Given the description of an element on the screen output the (x, y) to click on. 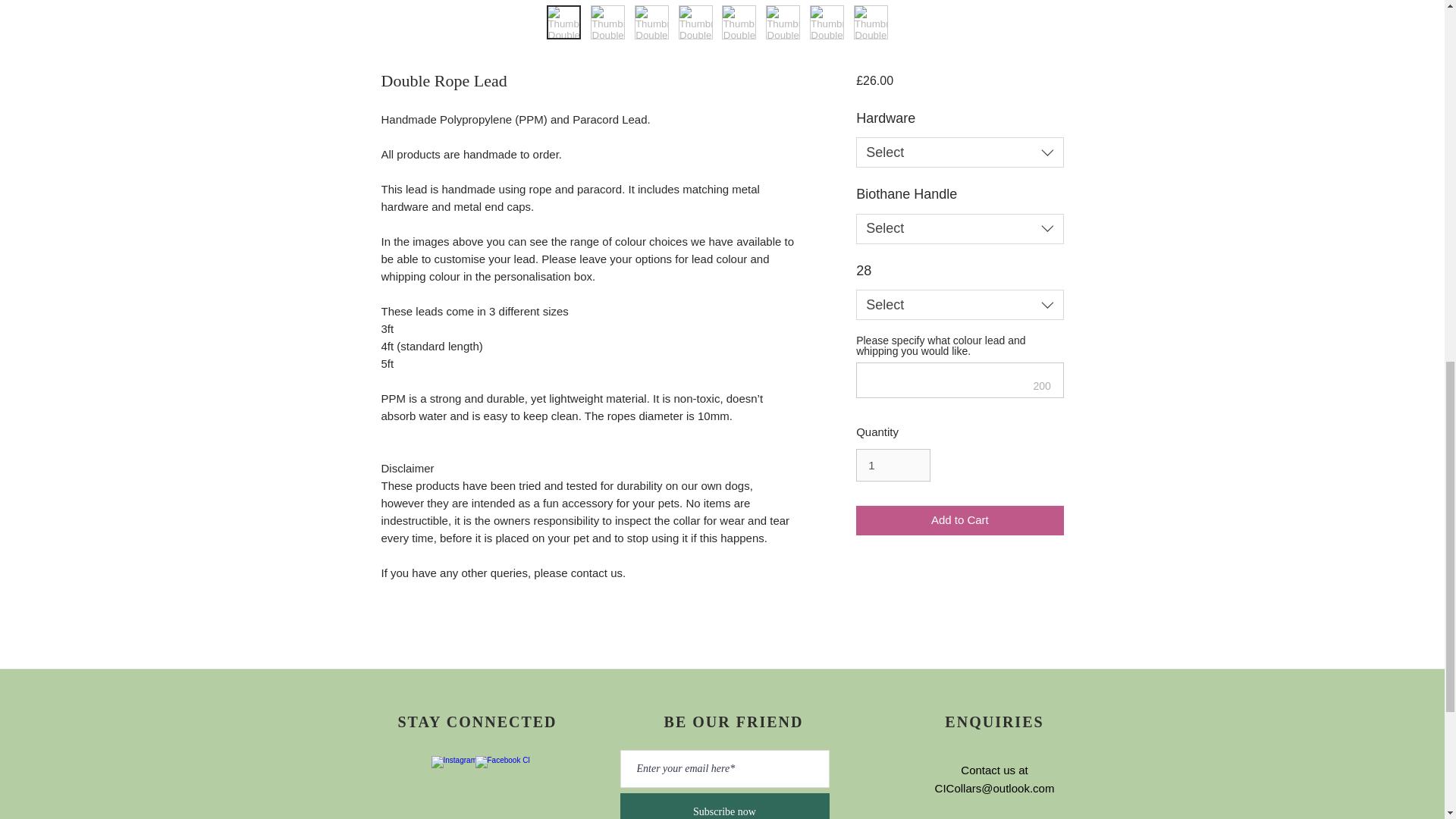
Select (959, 228)
Select (959, 152)
1 (893, 465)
Add to Cart (959, 520)
Select (959, 304)
